Given the description of an element on the screen output the (x, y) to click on. 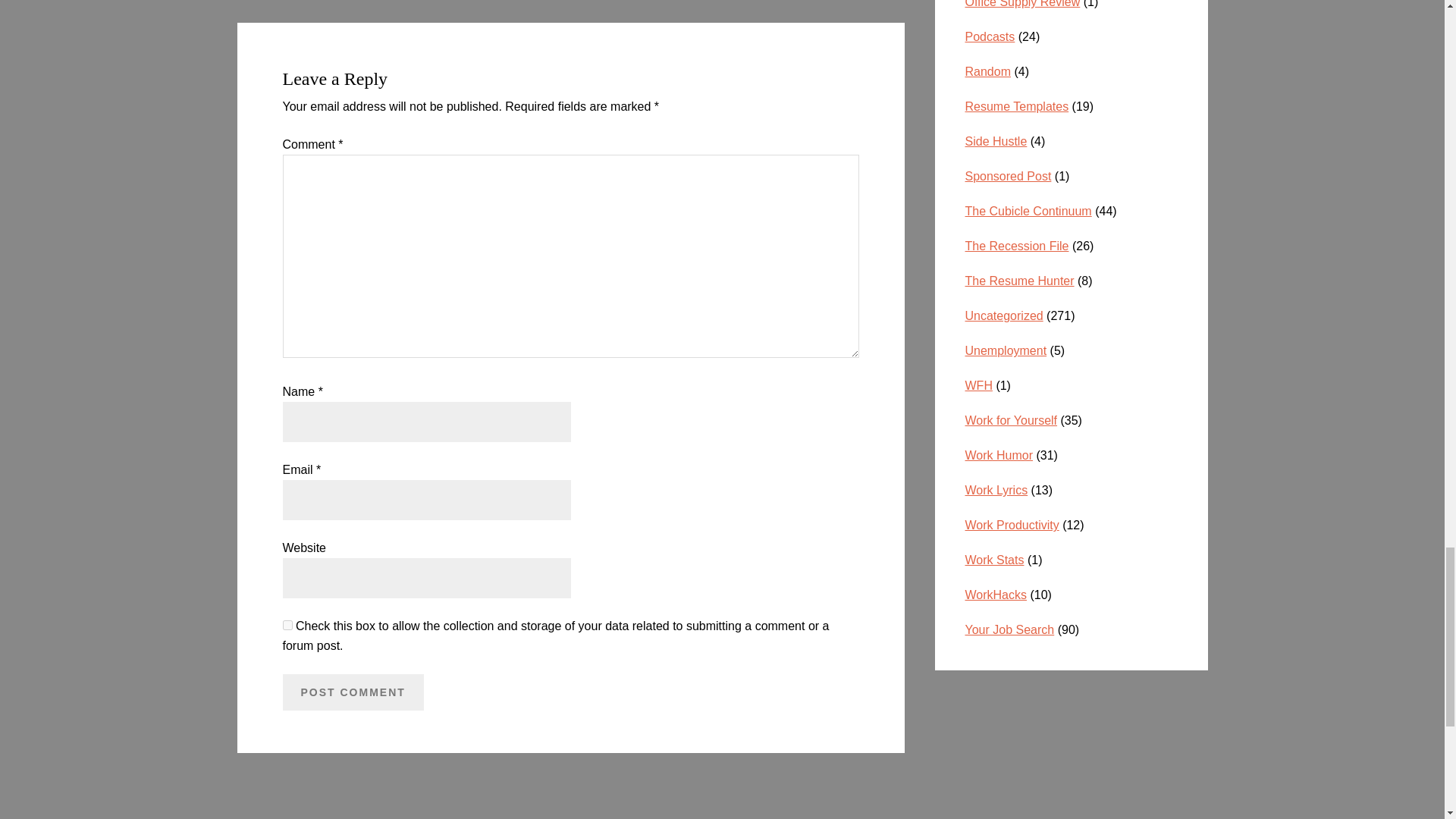
on (287, 624)
Post Comment (352, 692)
Advertisement (1070, 748)
Post Comment (352, 692)
